Given the description of an element on the screen output the (x, y) to click on. 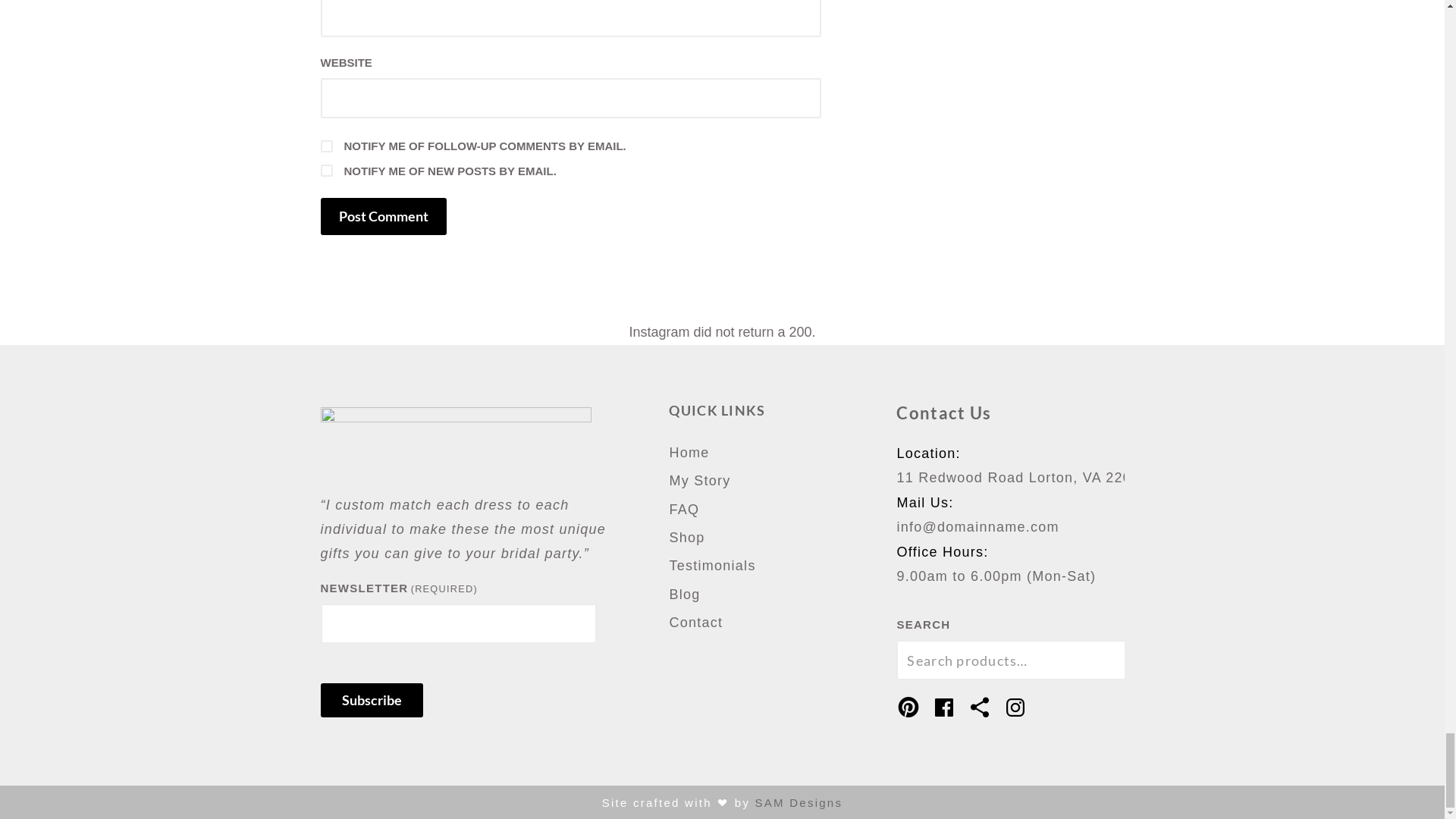
subscribe (325, 146)
subscribe (325, 170)
Post Comment (382, 216)
